Given the description of an element on the screen output the (x, y) to click on. 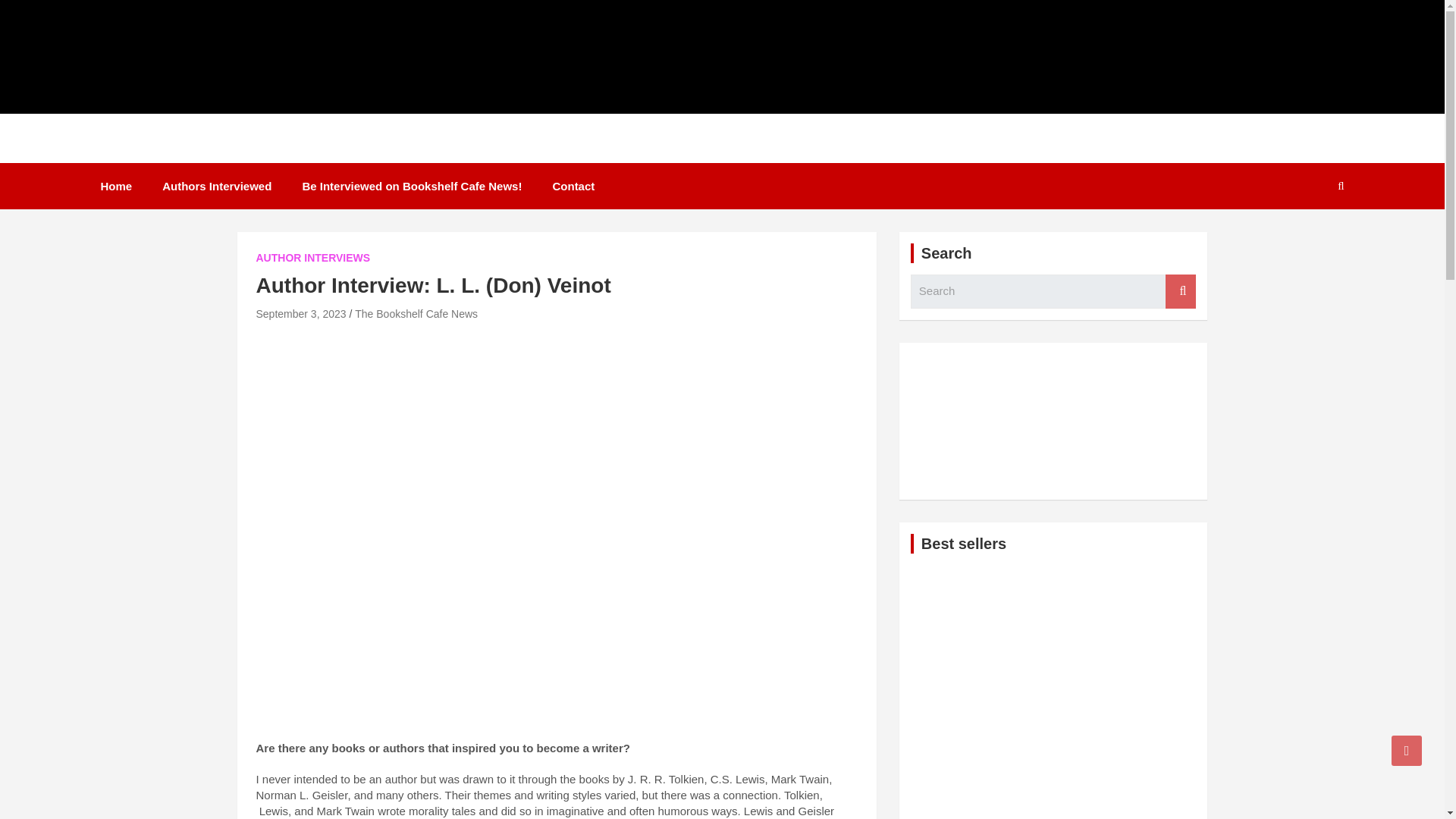
Contact (573, 185)
Authors Interviewed (216, 185)
September 3, 2023 (301, 313)
Be Interviewed on Bookshelf Cafe News! (411, 185)
The Bookshelf Cafe News (416, 313)
Search (1180, 291)
Go to Top (1406, 750)
The Bookshelf Cafe News (269, 155)
Home (115, 185)
AUTHOR INTERVIEWS (313, 258)
